Given the description of an element on the screen output the (x, y) to click on. 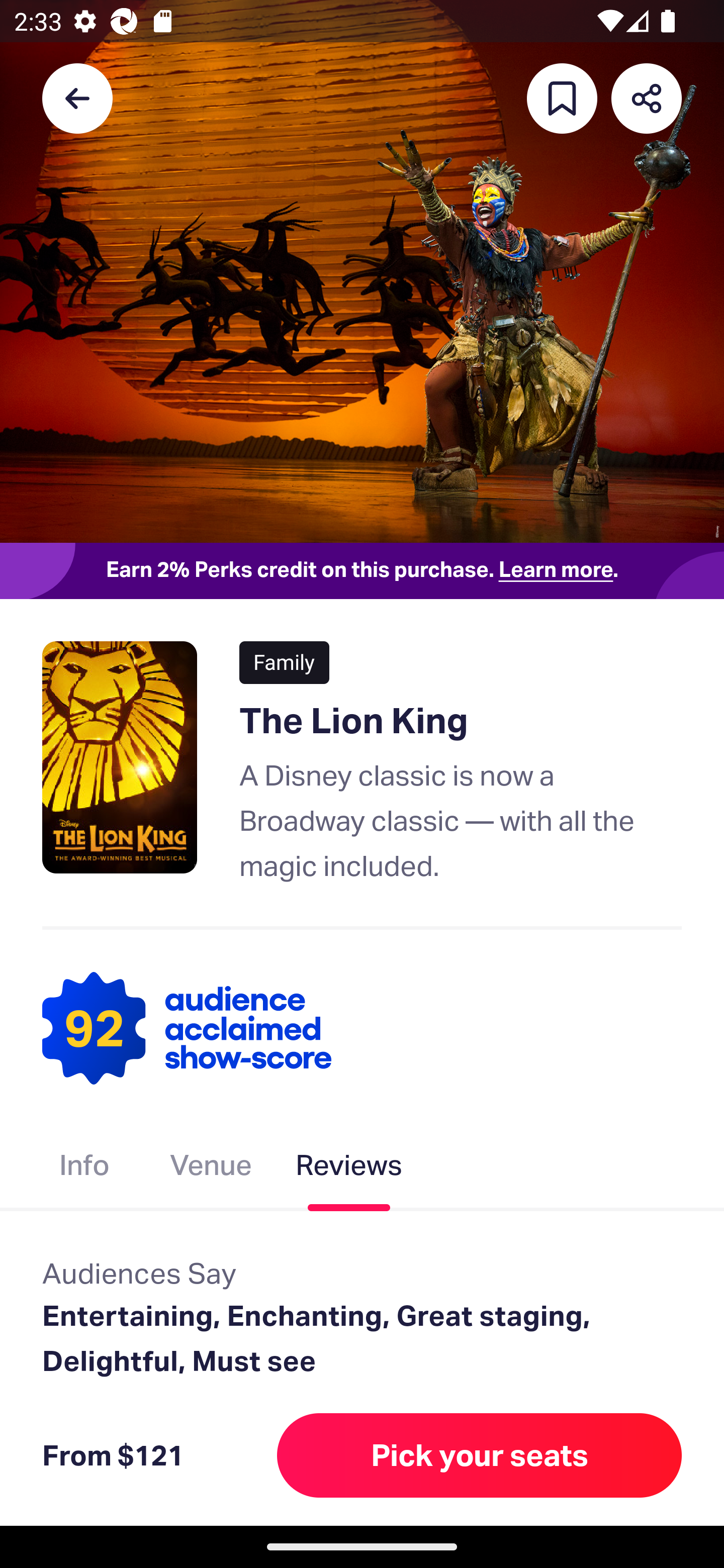
Earn 2% Perks credit on this purchase. Learn more. (362, 570)
Info (83, 1168)
Venue (210, 1168)
Pick your seats (479, 1454)
